Given the description of an element on the screen output the (x, y) to click on. 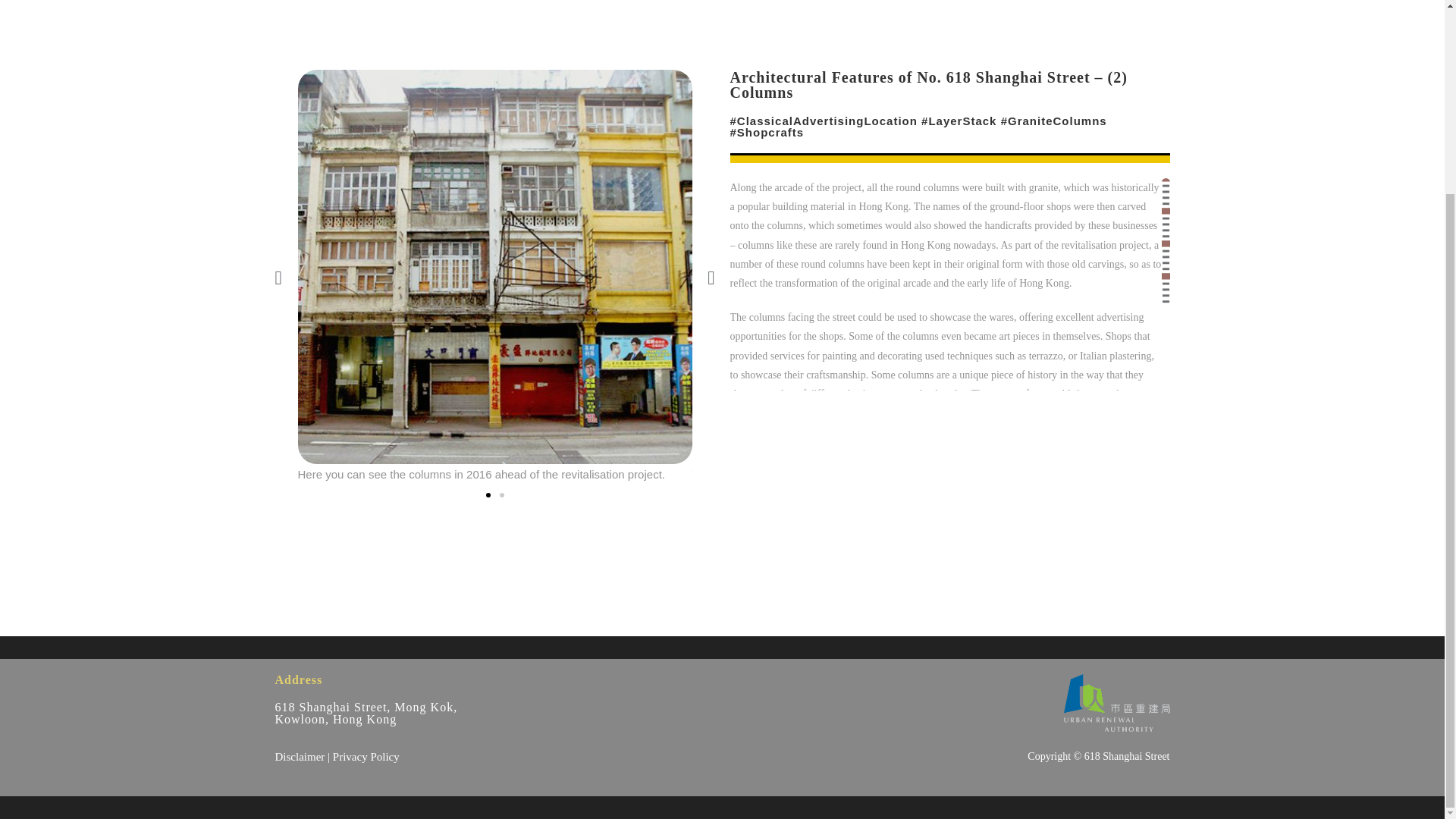
Privacy Policy (365, 756)
Disclaimer (299, 756)
